Given the description of an element on the screen output the (x, y) to click on. 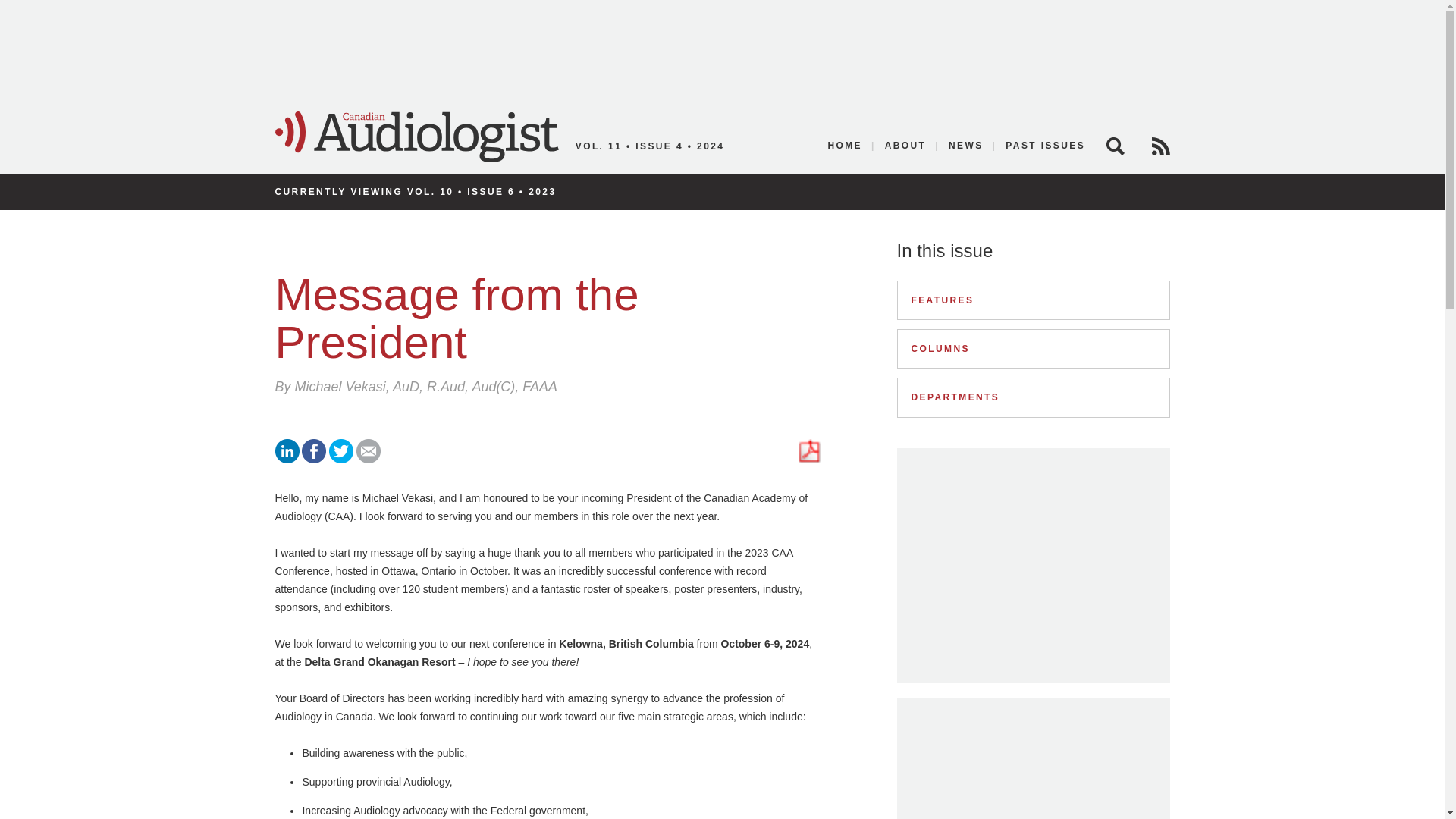
PAST ISSUES (1039, 145)
Send email (368, 459)
Tweet (341, 459)
3rd party ad content (1032, 770)
Share on LinkedIn (286, 459)
About The Canadian Academy of Audiology (906, 145)
3rd party ad content (1032, 565)
View the RSS Feed for Canadian Audiologists (1160, 146)
3rd party ad content (721, 49)
Share on Facebook (313, 459)
